Given the description of an element on the screen output the (x, y) to click on. 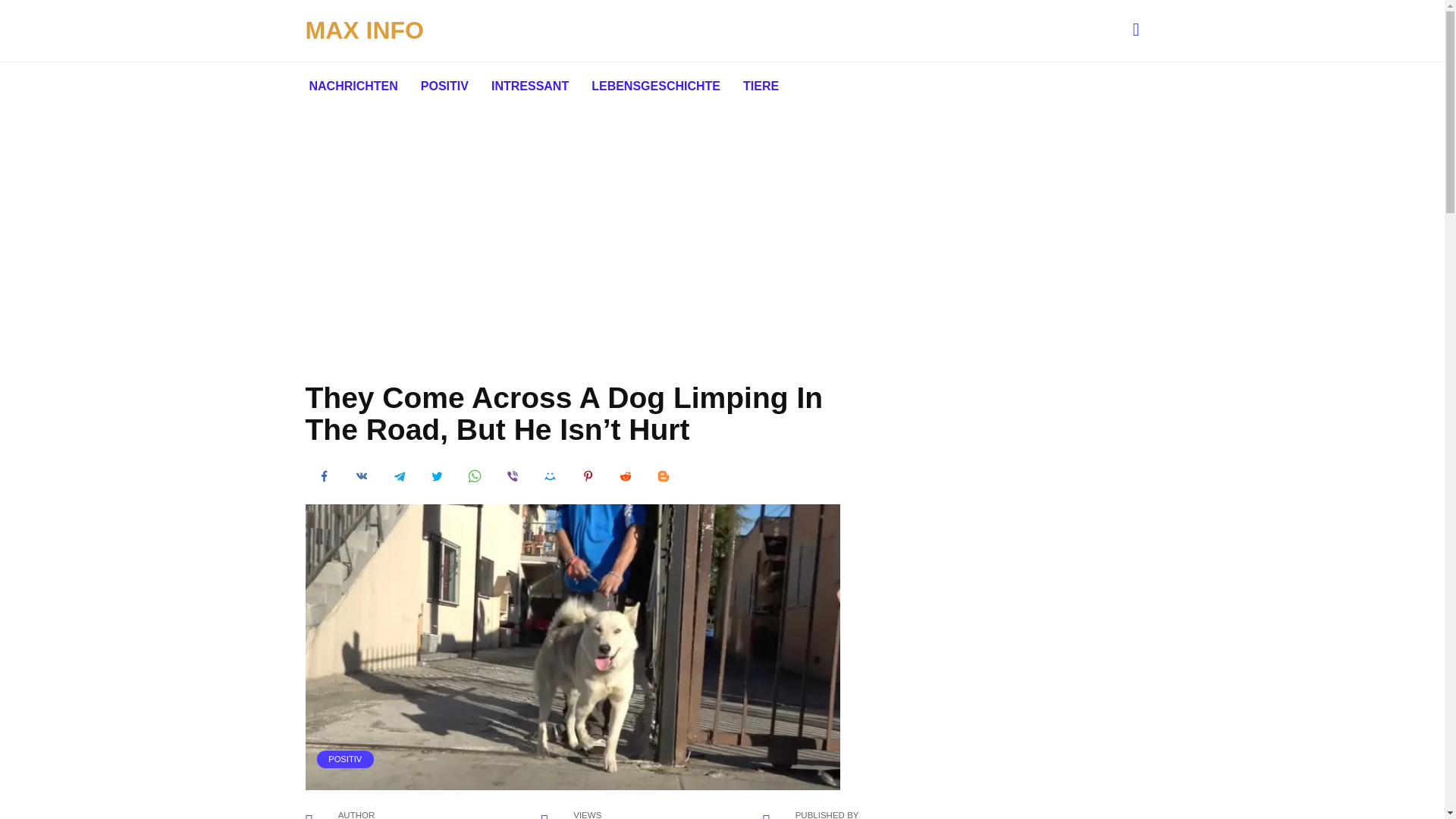
POSITIV (345, 758)
MAX INFO (363, 30)
TIERE (761, 86)
LEBENSGESCHICHTE (655, 86)
POSITIV (444, 86)
NACHRICHTEN (353, 86)
INTRESSANT (529, 86)
